Given the description of an element on the screen output the (x, y) to click on. 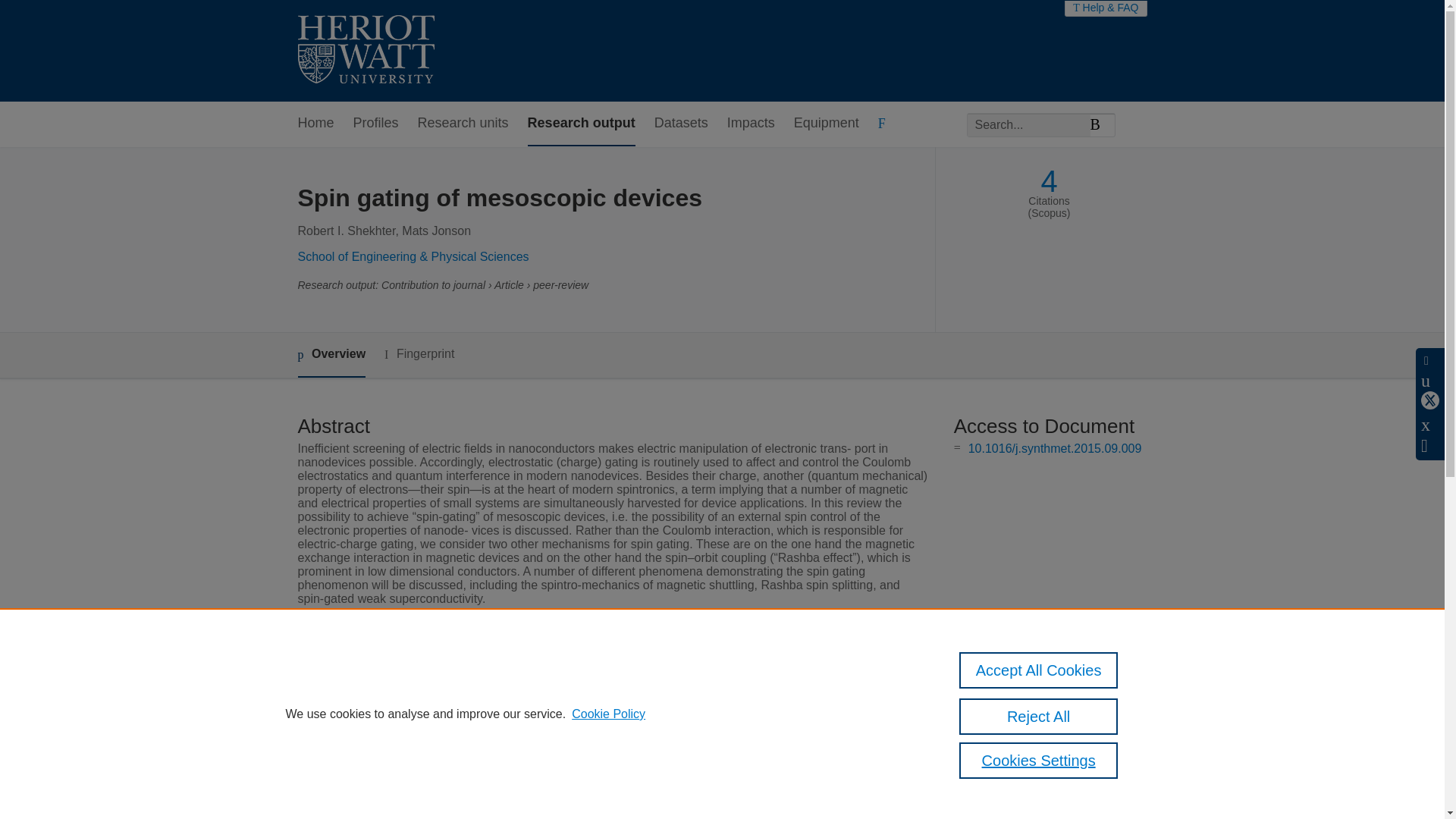
Research output (580, 123)
Synthetic Metals (554, 689)
Heriot-Watt Research Portal Home (365, 50)
Datasets (680, 123)
Research units (462, 123)
Equipment (826, 123)
Overview (331, 354)
Profiles (375, 123)
Impacts (750, 123)
Fingerprint (419, 353)
